Given the description of an element on the screen output the (x, y) to click on. 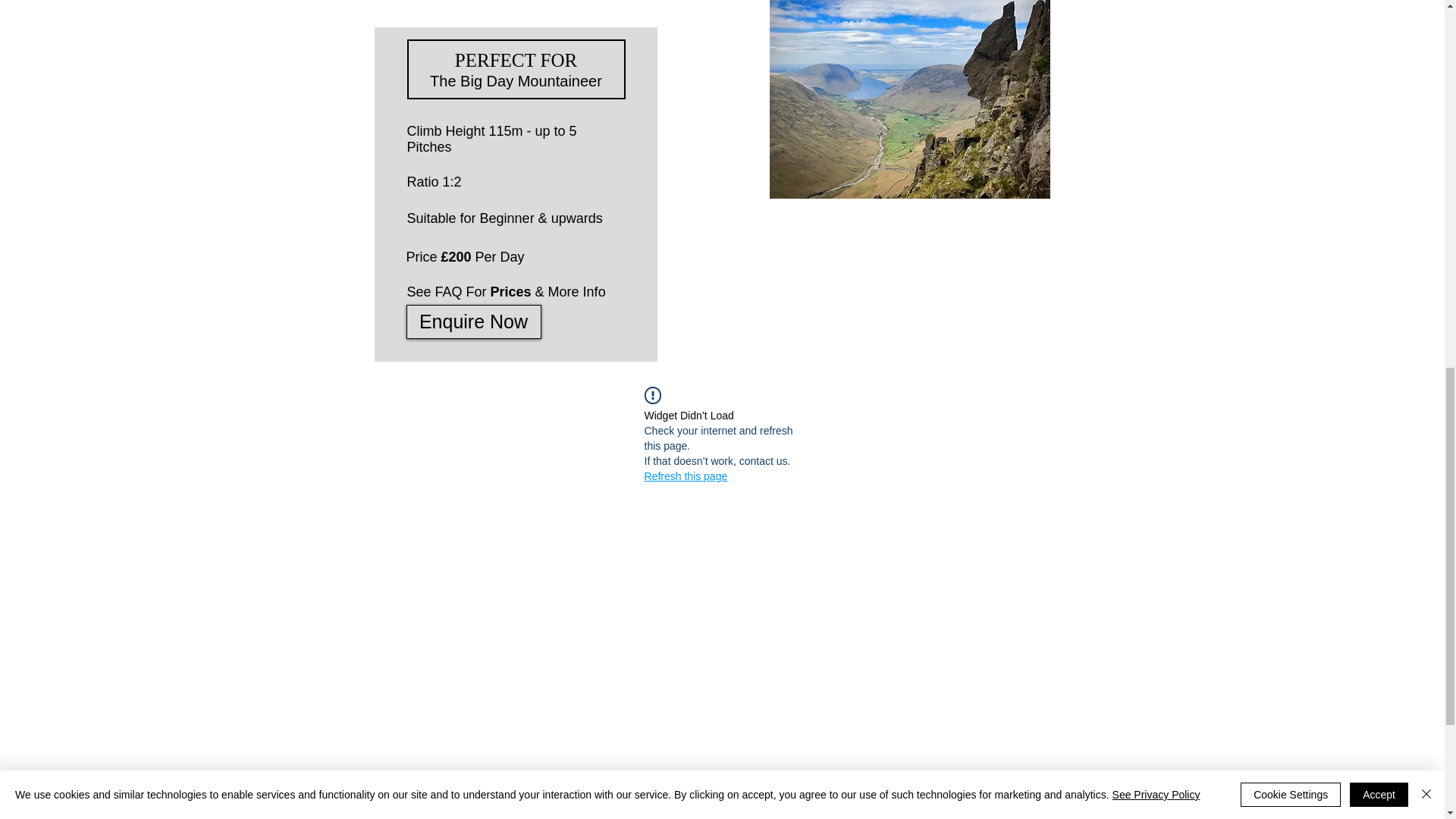
Enquire Now (473, 321)
Refresh this page (686, 476)
